Given the description of an element on the screen output the (x, y) to click on. 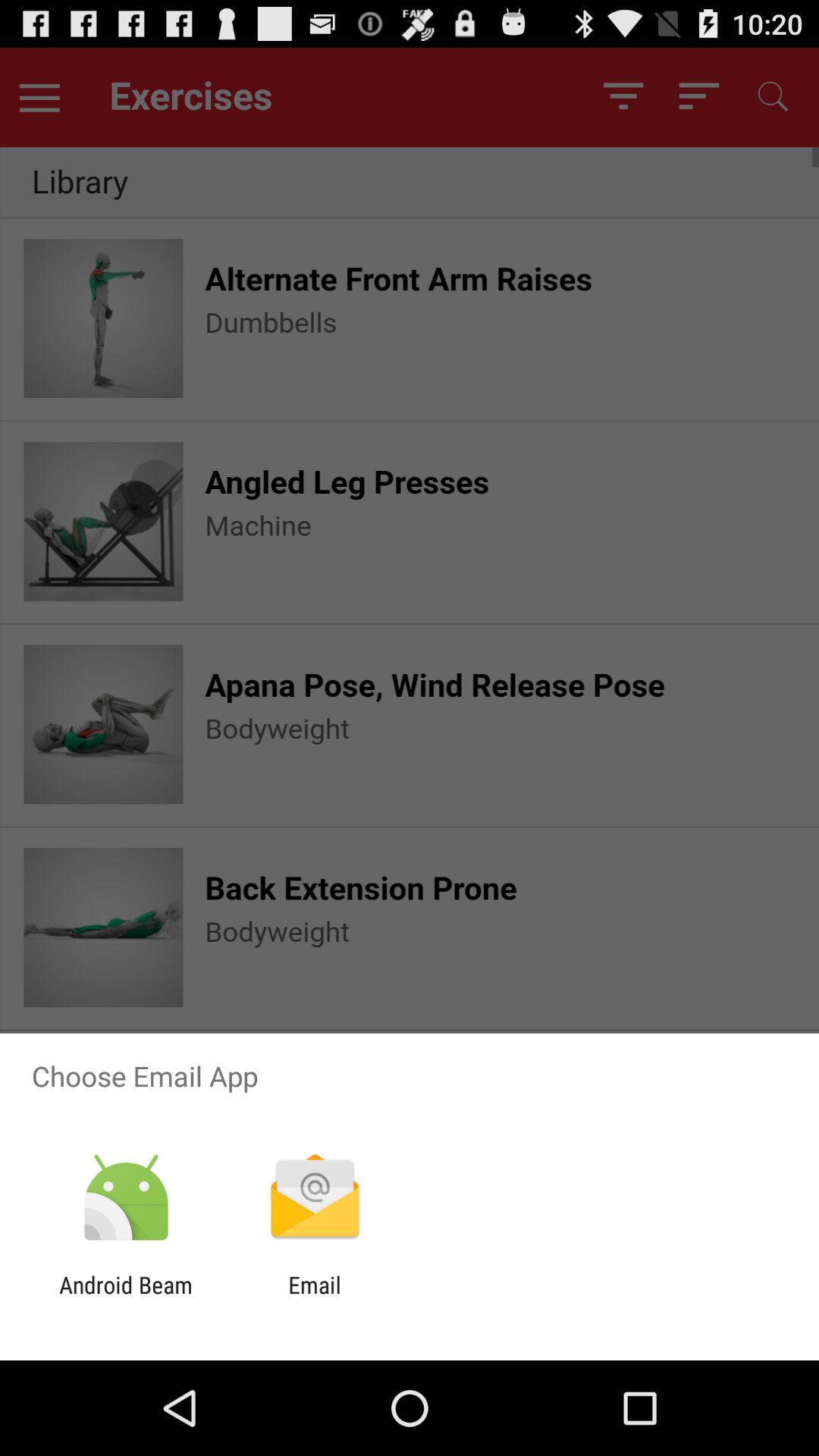
turn on the app to the left of email app (125, 1298)
